Given the description of an element on the screen output the (x, y) to click on. 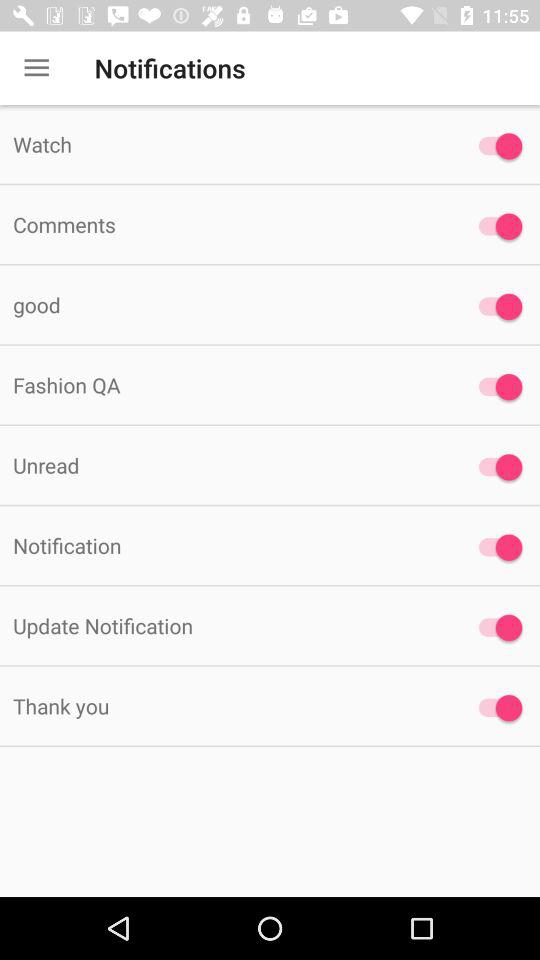
toggle watch option (495, 146)
